Given the description of an element on the screen output the (x, y) to click on. 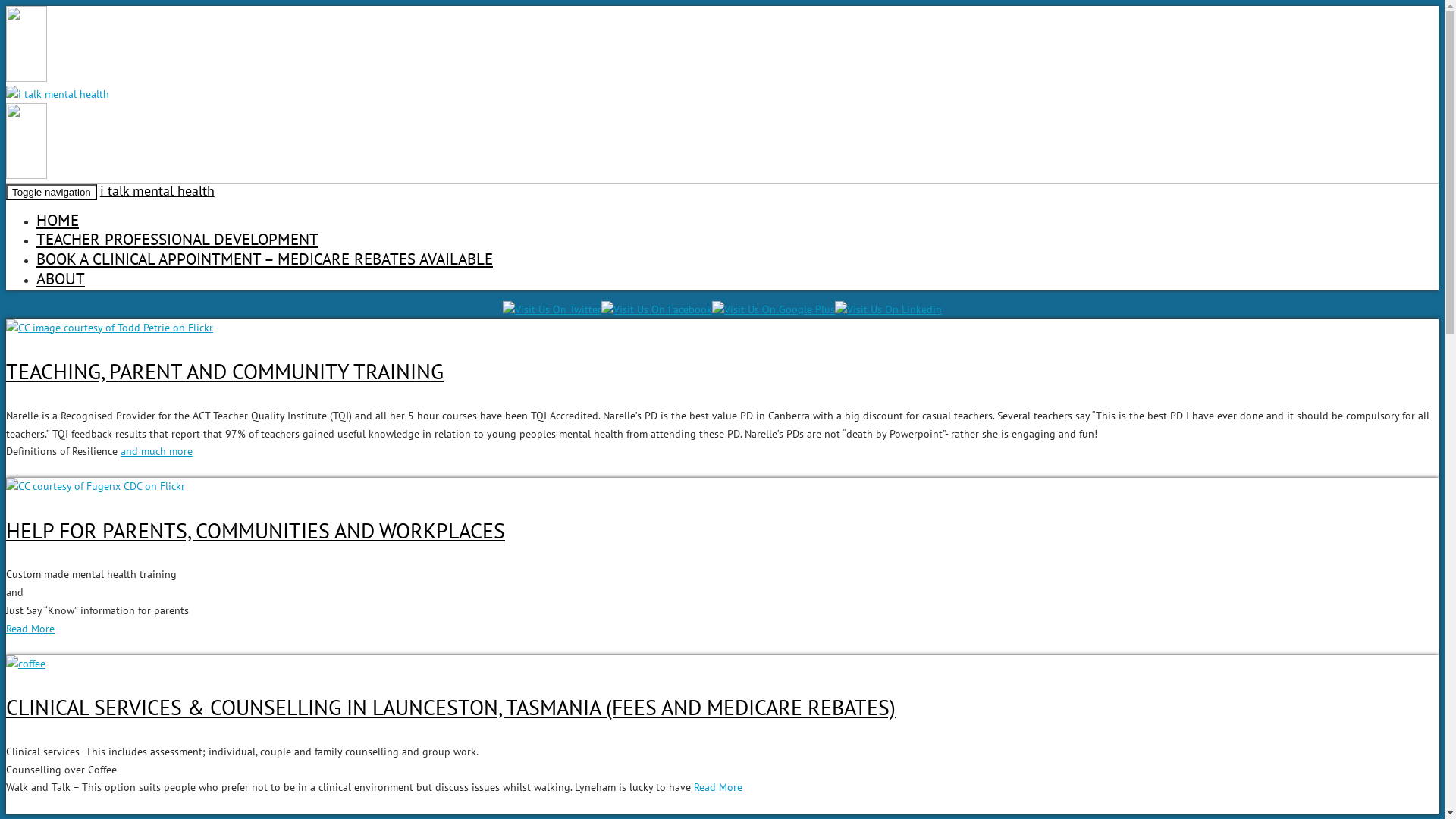
HOME Element type: text (57, 220)
i talk mental health Element type: text (157, 190)
Toggle navigation Element type: text (51, 192)
Visit Us On Google Plus Element type: hover (773, 309)
TEACHER PROFESSIONAL DEVELOPMENT Element type: text (177, 239)
TEACHING, PARENT AND COMMUNITY TRAINING Element type: text (224, 371)
and much more Element type: text (156, 451)
Read More Element type: text (30, 628)
ABOUT Element type: text (60, 278)
Visit Us On Twitter Element type: hover (551, 309)
Read More Element type: text (717, 786)
HELP FOR PARENTS, COMMUNITIES AND WORKPLACES Element type: text (255, 530)
Visit Us On Facebook Element type: hover (656, 309)
Visit Us On Linkedin Element type: hover (887, 309)
